Given the description of an element on the screen output the (x, y) to click on. 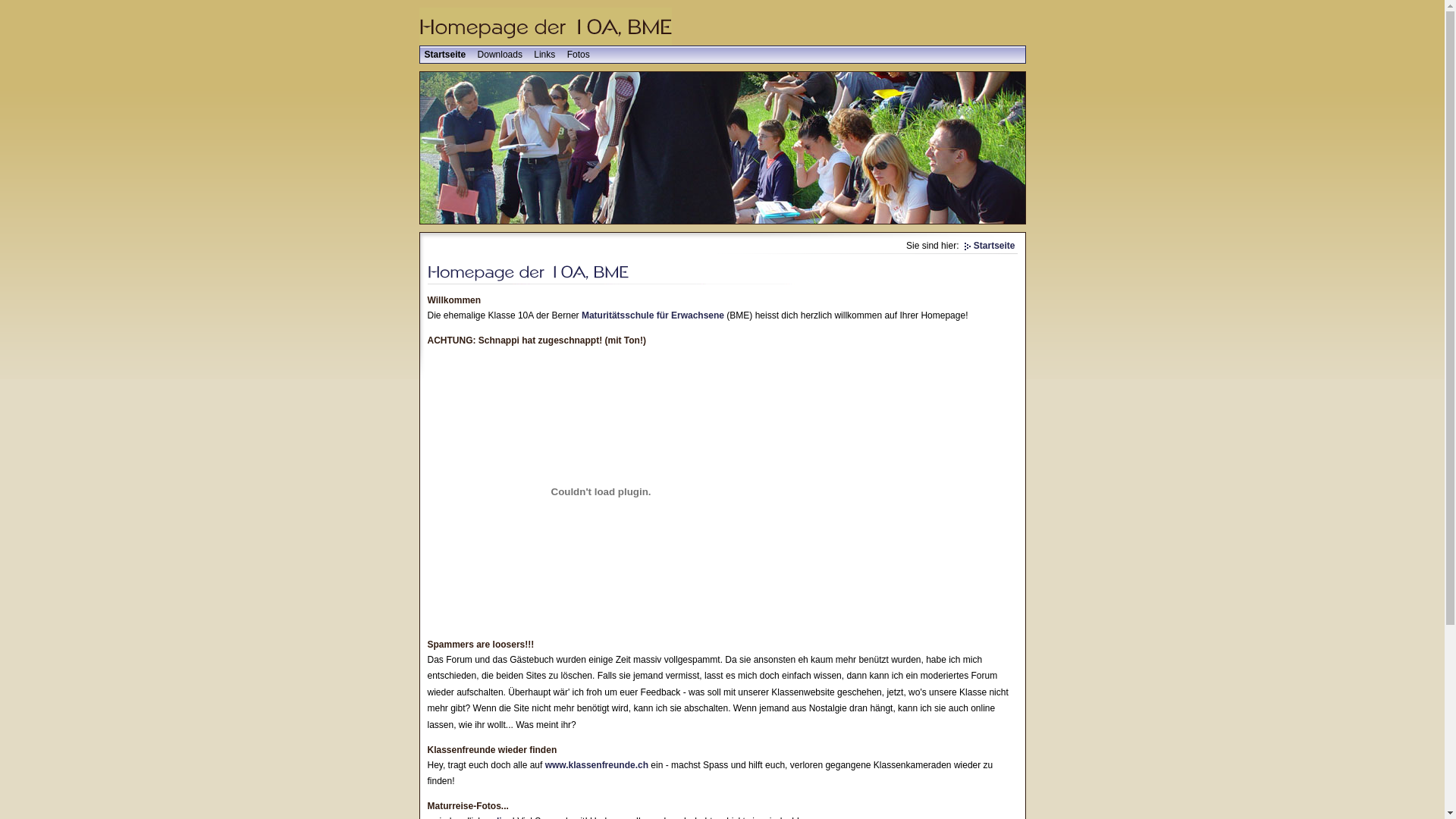
Fotos Element type: text (578, 54)
Downloads Element type: text (500, 54)
Startseite Element type: text (445, 54)
Startseite Element type: text (989, 245)
www.klassenfreunde.ch Element type: text (596, 764)
Links Element type: text (544, 54)
